Given the description of an element on the screen output the (x, y) to click on. 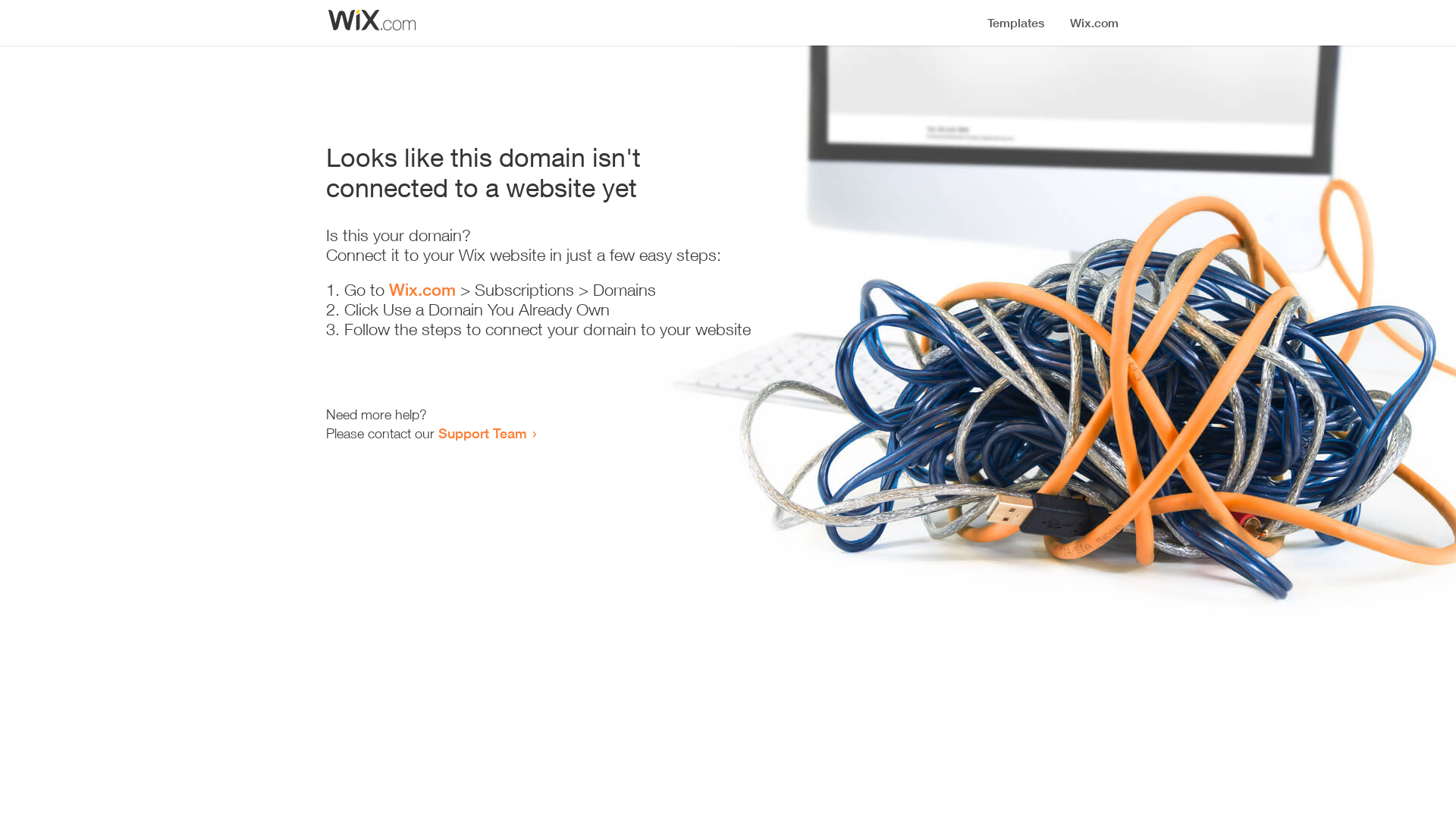
Support Team Element type: text (482, 432)
Wix.com Element type: text (422, 289)
